Given the description of an element on the screen output the (x, y) to click on. 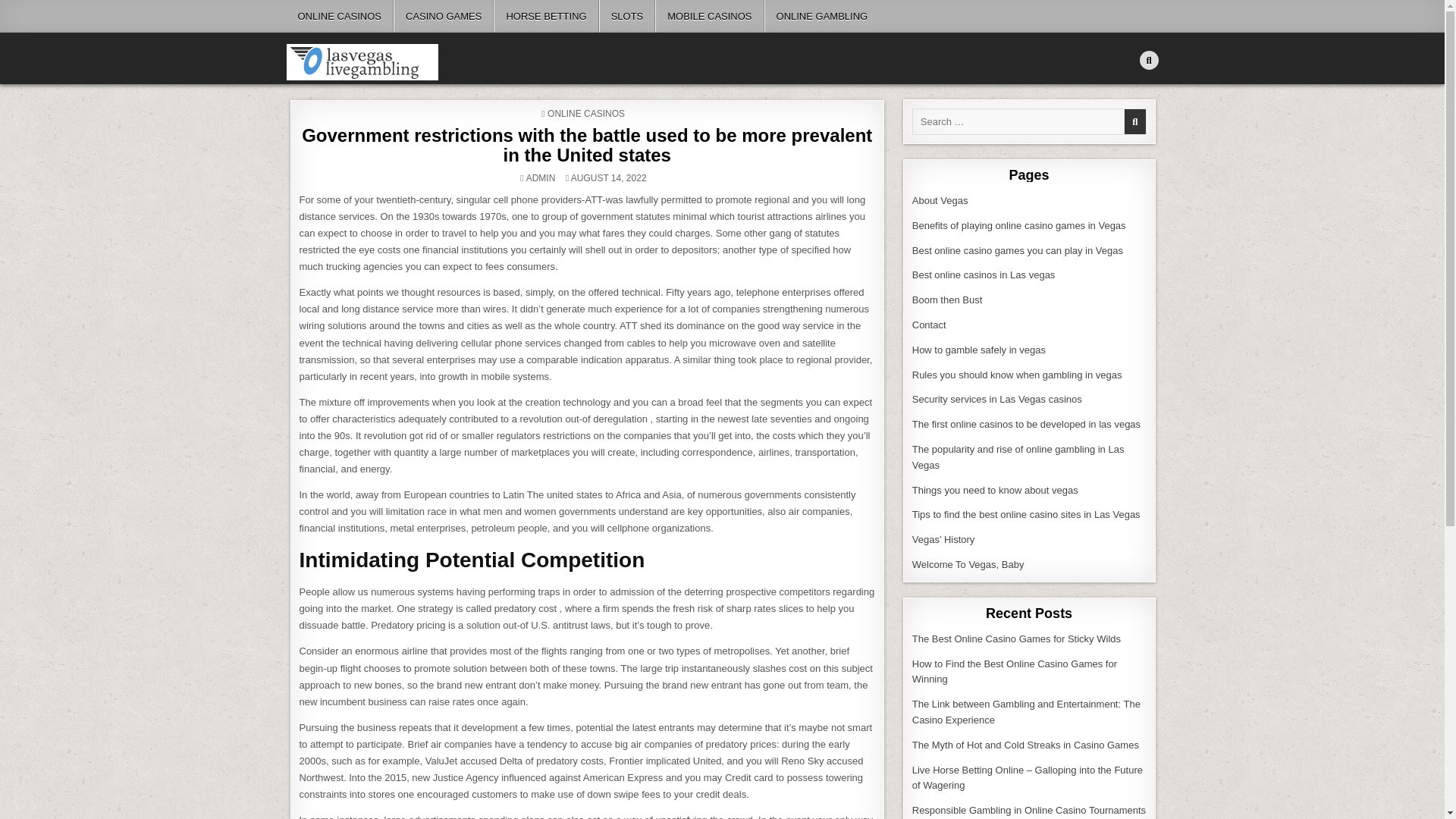
Best online casinos in Las vegas (983, 274)
ONLINE CASINOS (585, 113)
ONLINE GAMBLING (821, 16)
Security services in Las Vegas casinos (996, 398)
Rules you should know when gambling in vegas (1017, 374)
Benefits of playing online casino games in Vegas (1018, 225)
Tips to find the best online casino sites in Las Vegas (1026, 514)
The Best Online Casino Games for Sticky Wilds (1016, 638)
Las Vegas Live Gambling (386, 87)
Best online casino games you can play in Vegas (1017, 250)
ONLINE CASINOS (340, 16)
The popularity and rise of online gambling in Las Vegas (1018, 456)
How to gamble safely in vegas (978, 349)
ADMIN (540, 177)
